Given the description of an element on the screen output the (x, y) to click on. 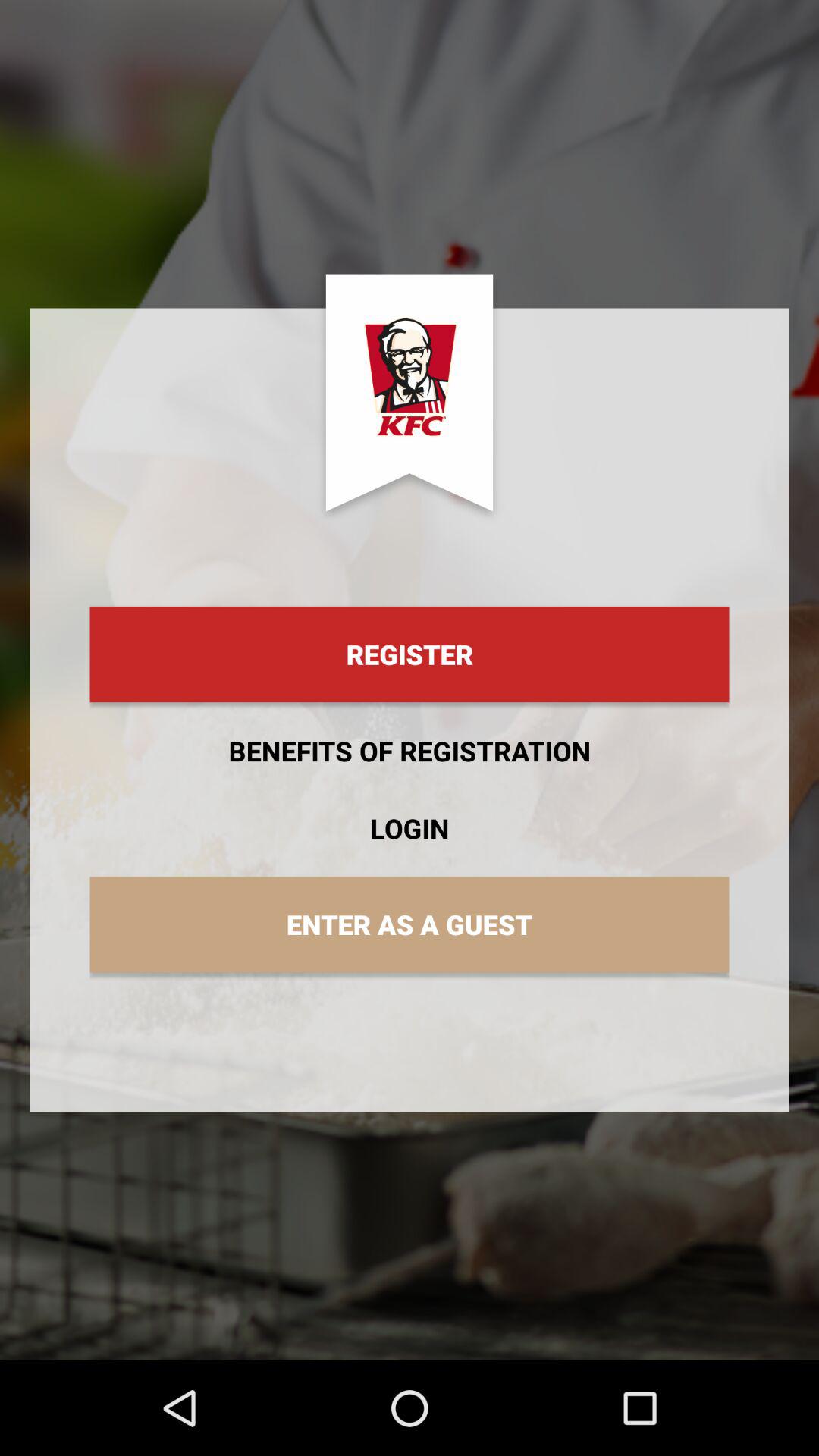
turn on item below register (409, 750)
